Given the description of an element on the screen output the (x, y) to click on. 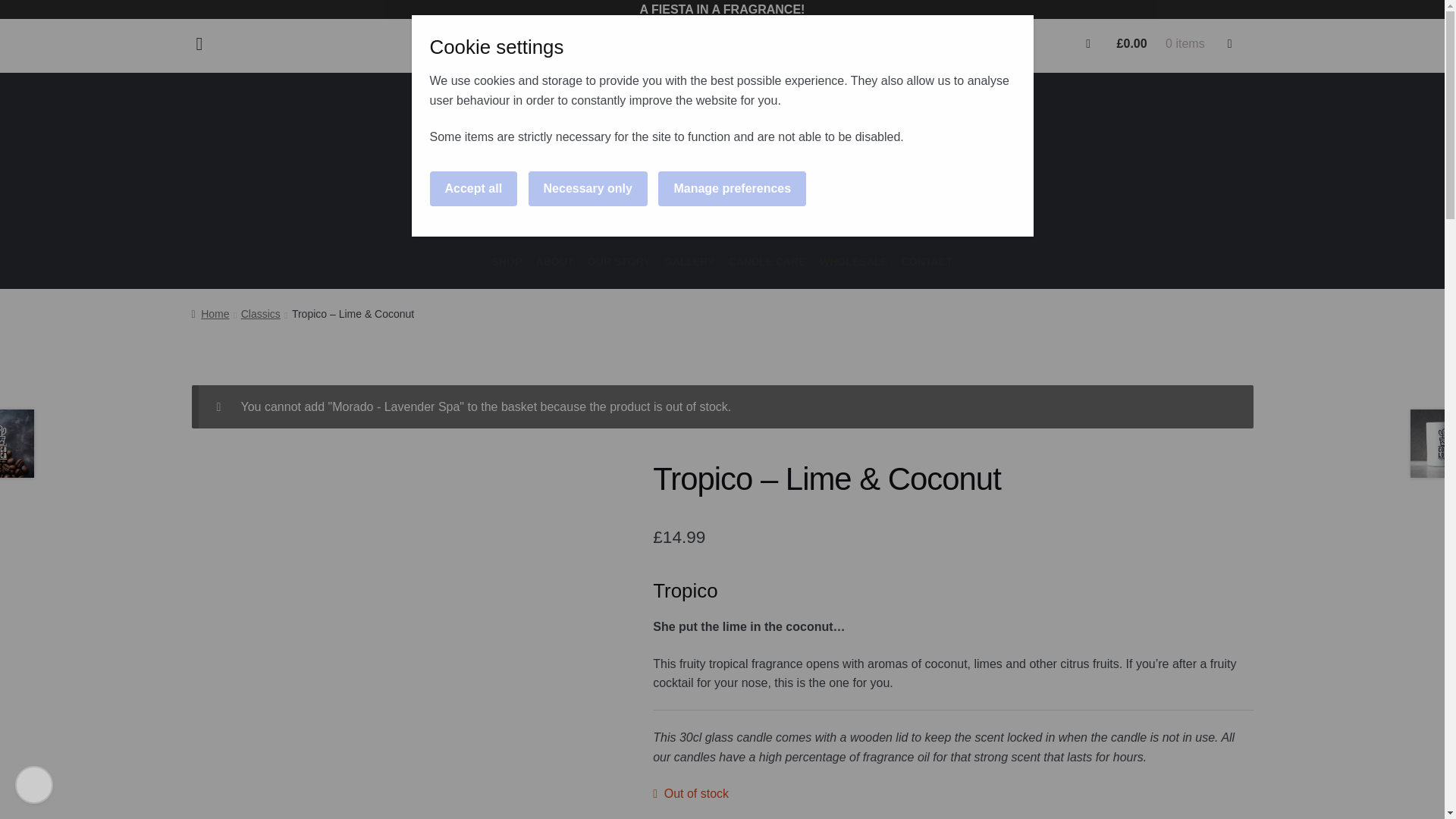
WHOLESALE (852, 262)
View your shopping basket (1160, 42)
OUR STORY (618, 262)
Home (209, 313)
GALLERY (689, 262)
CANDLE CARE (766, 262)
Classics (261, 313)
CONTACT (927, 262)
ABOUT (555, 262)
